Given the description of an element on the screen output the (x, y) to click on. 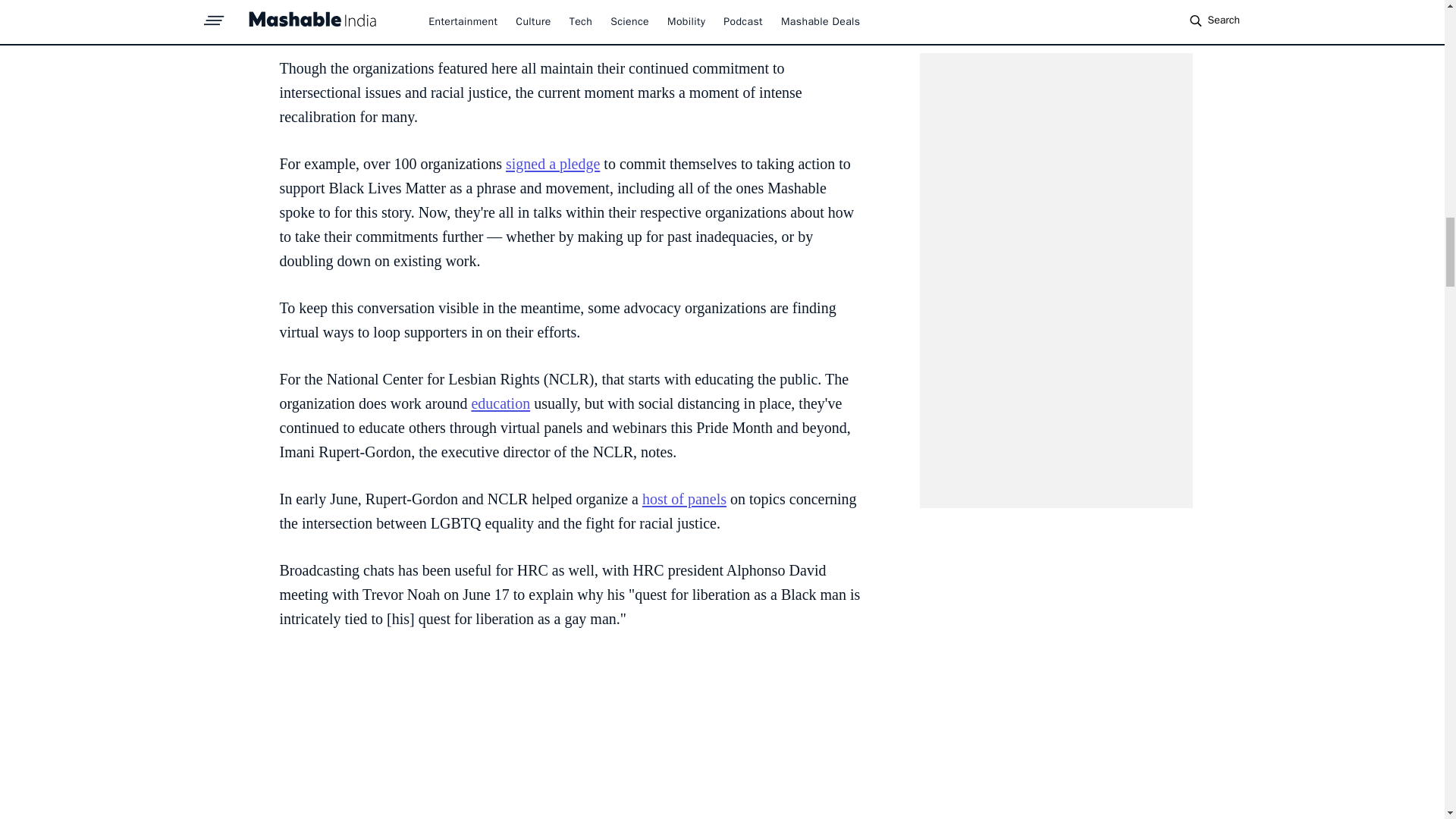
Twitter Tweet (570, 736)
